Given the description of an element on the screen output the (x, y) to click on. 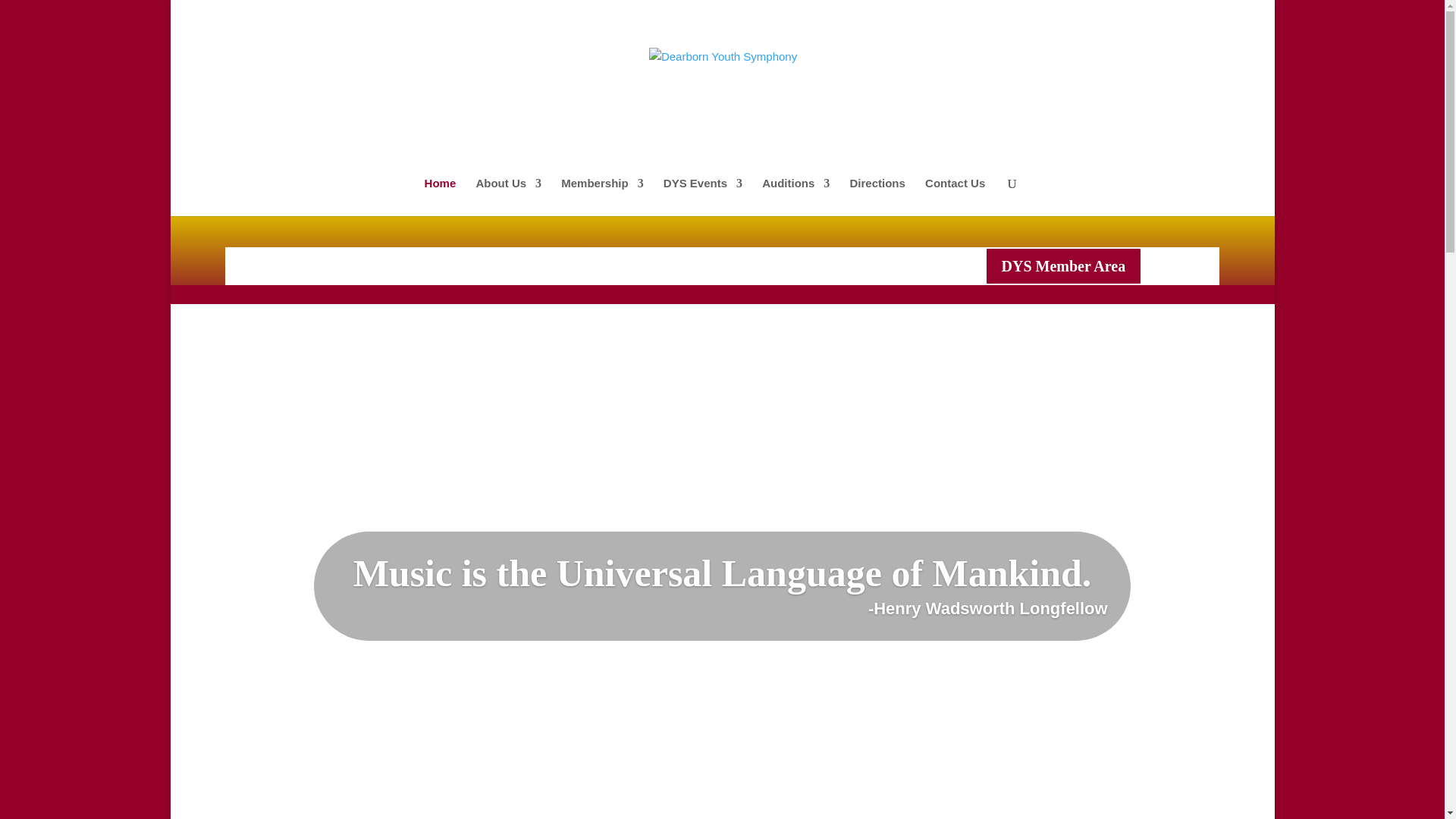
Contact Us (1198, 14)
DYS Events (1010, 14)
Auditions (1081, 14)
Home (810, 14)
About Us (861, 14)
Membership (933, 14)
About Us (508, 197)
Directions (1141, 14)
Membership (601, 197)
Home (441, 197)
